Given the description of an element on the screen output the (x, y) to click on. 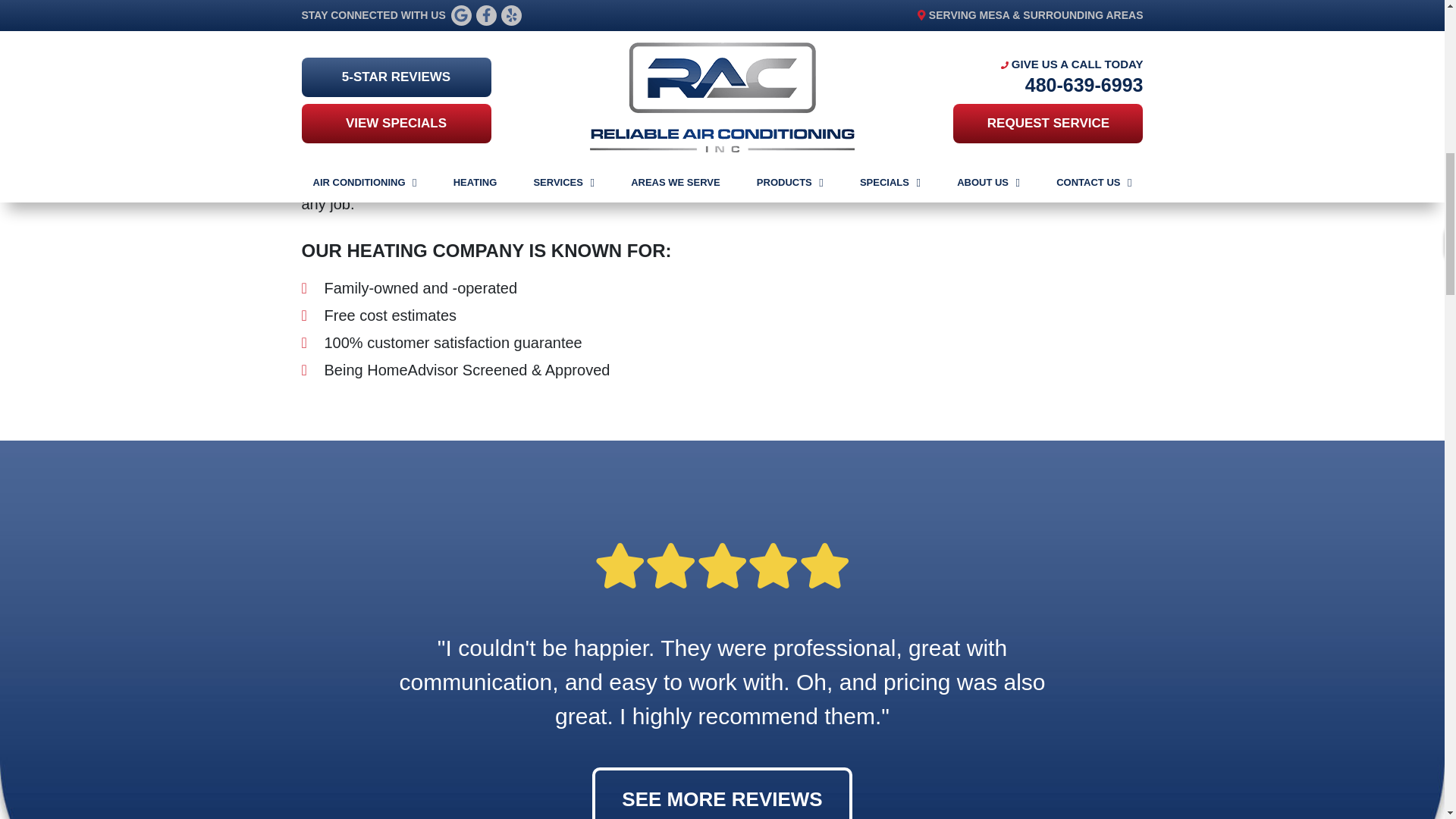
SEE MORE REVIEWS (721, 793)
